Given the description of an element on the screen output the (x, y) to click on. 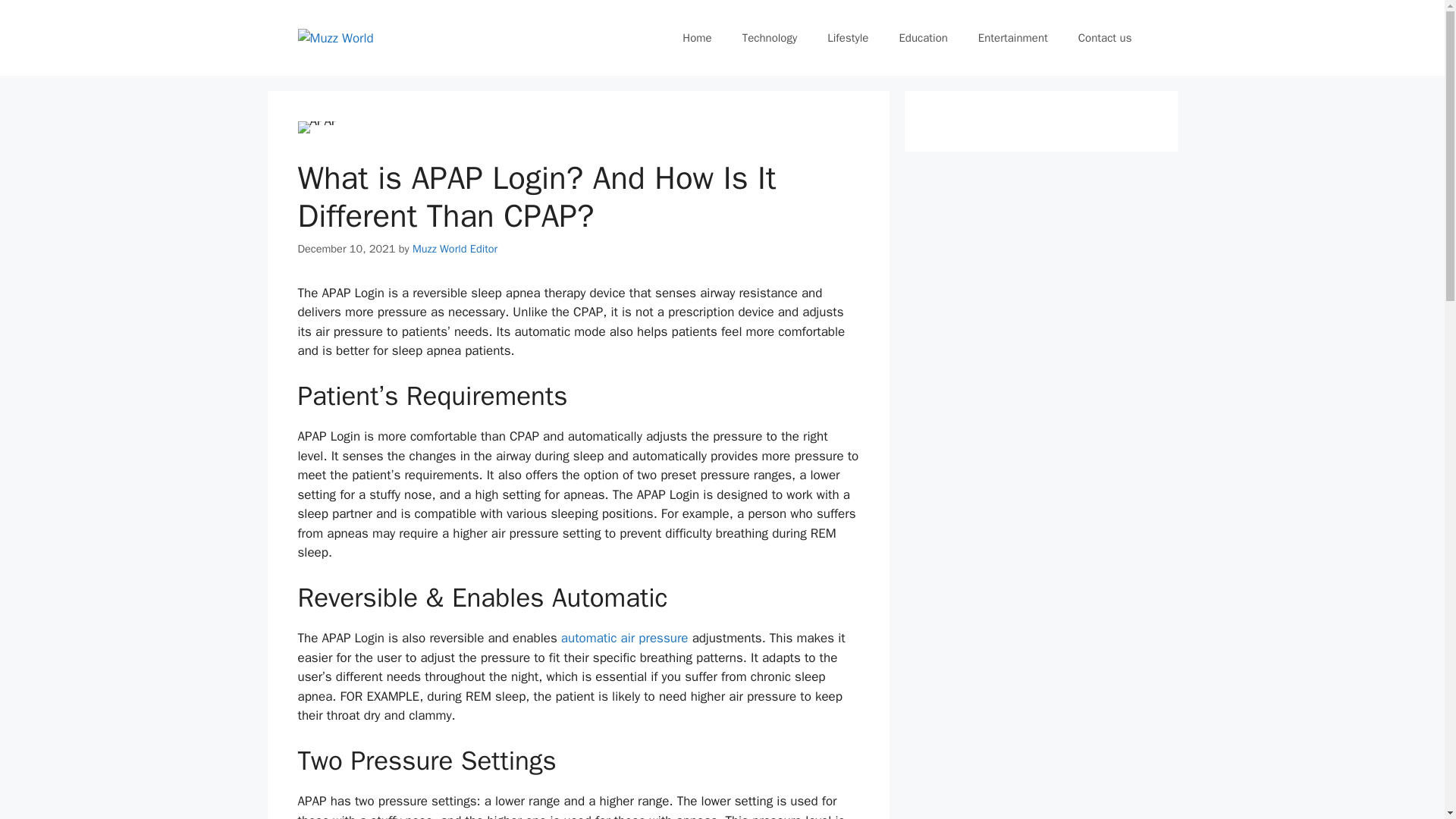
View all posts by Muzz World Editor (454, 248)
Home (696, 37)
Lifestyle (847, 37)
Entertainment (1012, 37)
Muzz World Editor (454, 248)
Education (922, 37)
automatic air pressure (624, 637)
Technology (769, 37)
Contact us (1104, 37)
